Given the description of an element on the screen output the (x, y) to click on. 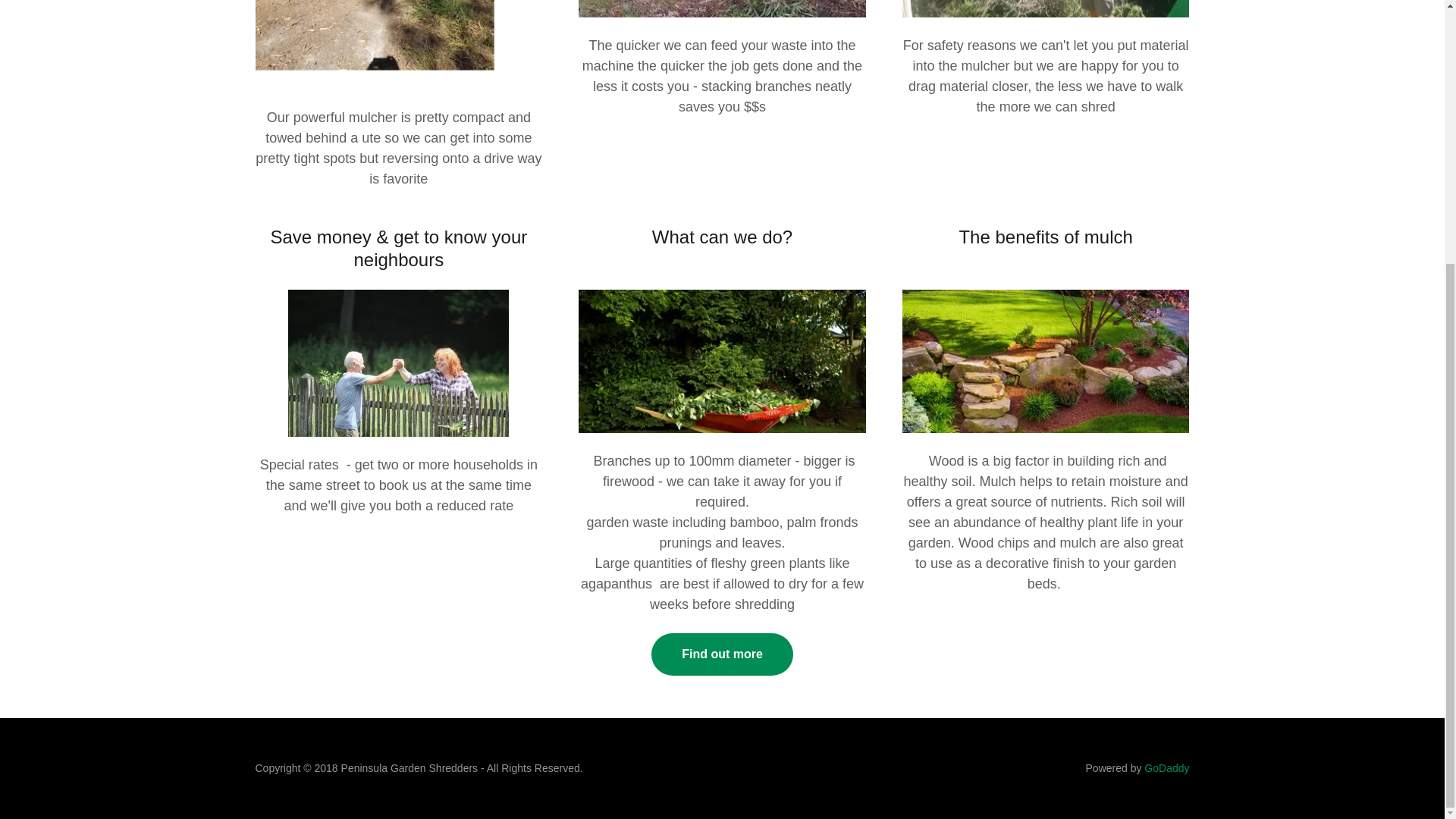
GoDaddy (1166, 767)
Find out more (721, 654)
